Given the description of an element on the screen output the (x, y) to click on. 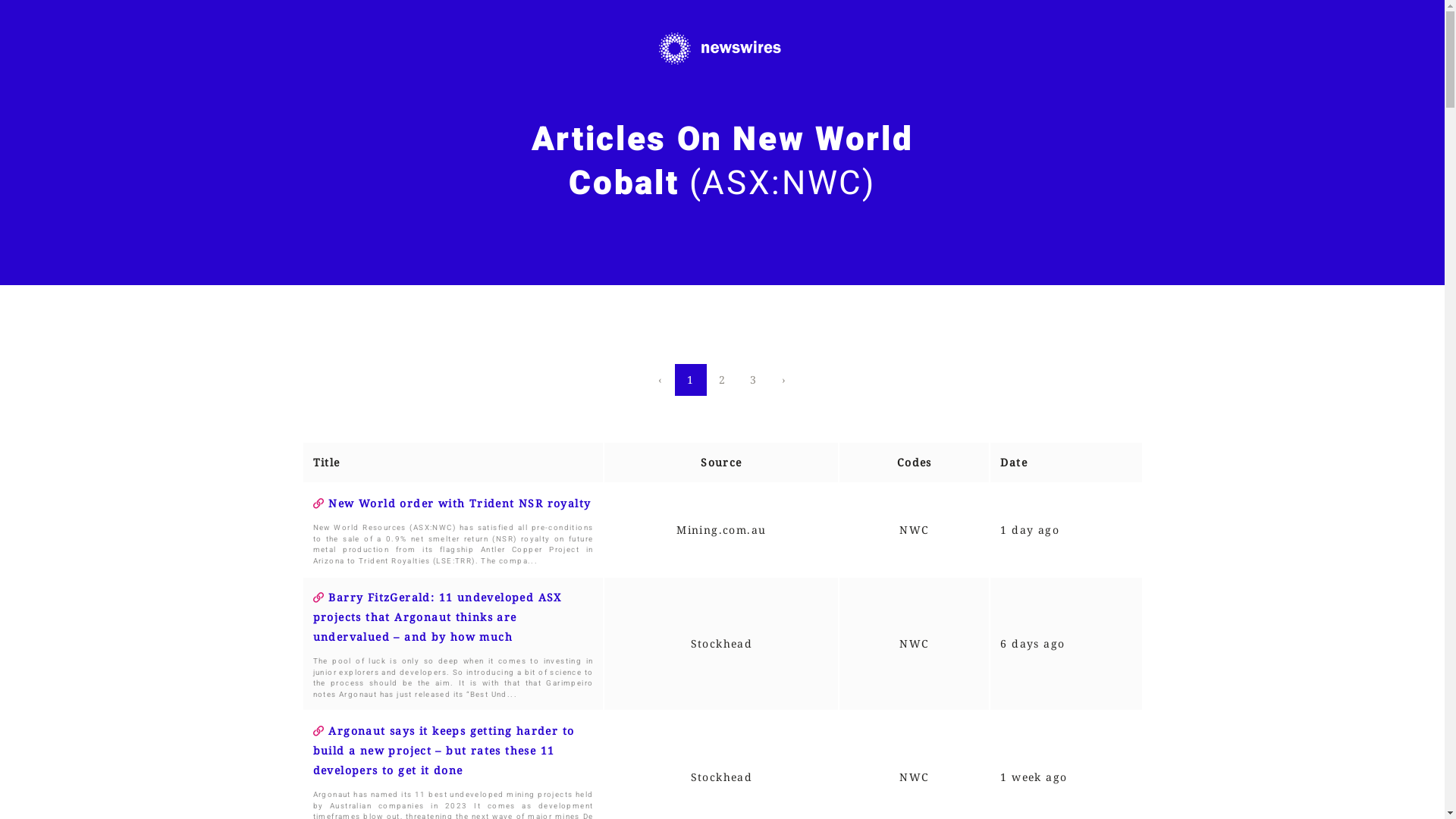
New World order with Trident NSR royalty Element type: text (451, 502)
2 Element type: text (721, 379)
3 Element type: text (752, 379)
